Given the description of an element on the screen output the (x, y) to click on. 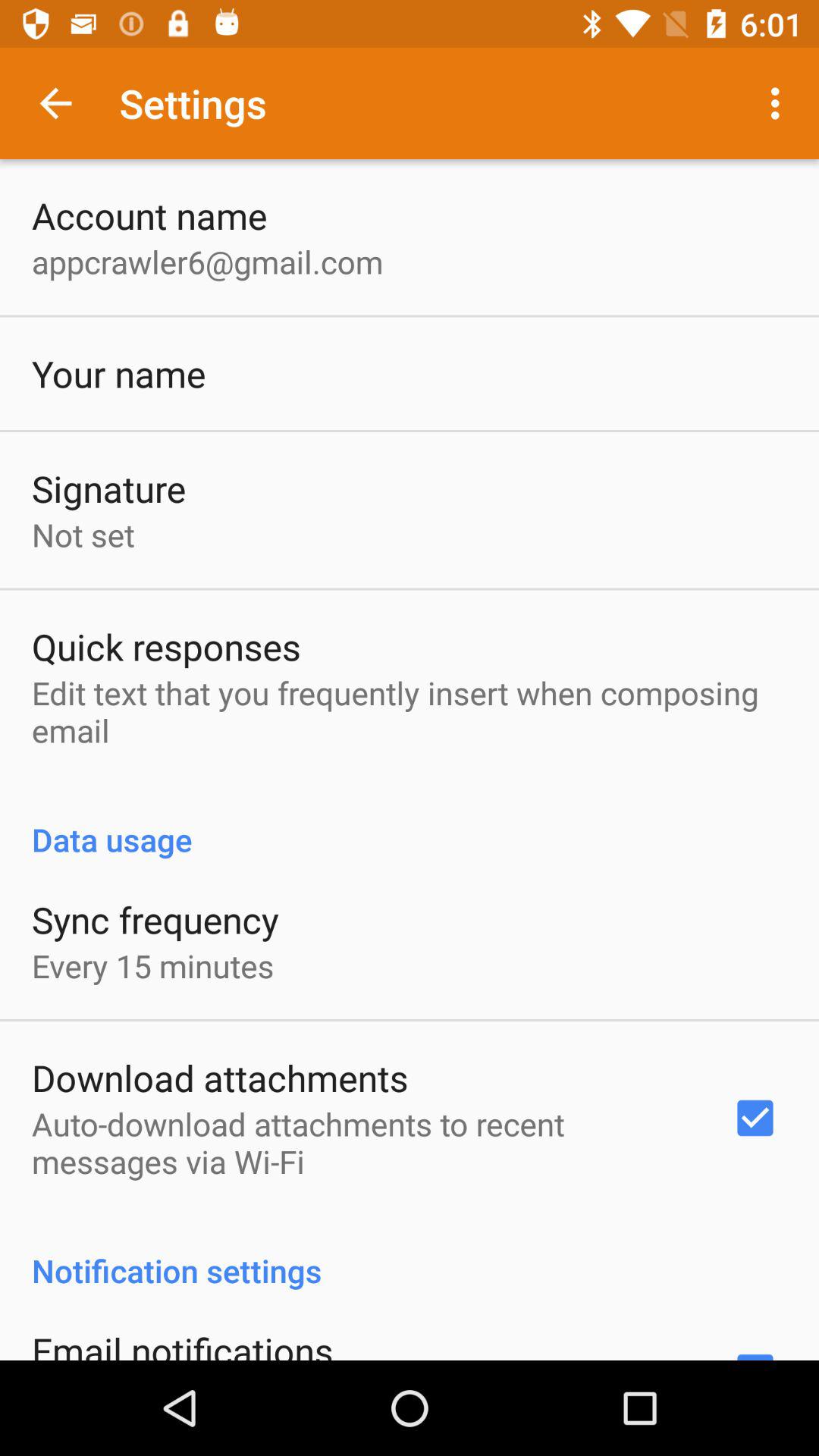
turn on the icon next to settings app (55, 103)
